Given the description of an element on the screen output the (x, y) to click on. 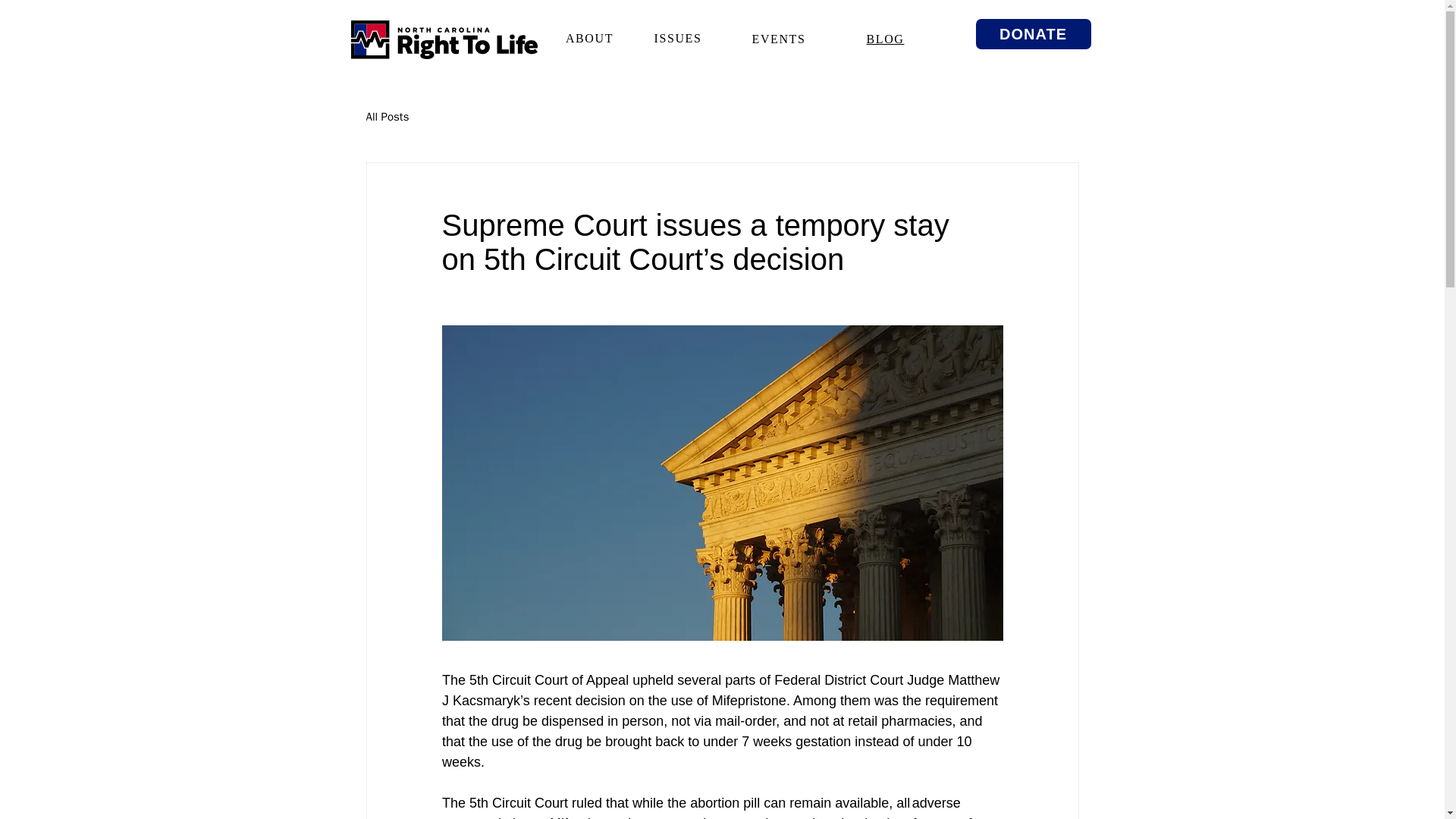
ISSUES (677, 38)
BLOG (885, 38)
All Posts (387, 115)
ABOUT (589, 38)
DONATE (1032, 33)
EVENTS (779, 38)
